Given the description of an element on the screen output the (x, y) to click on. 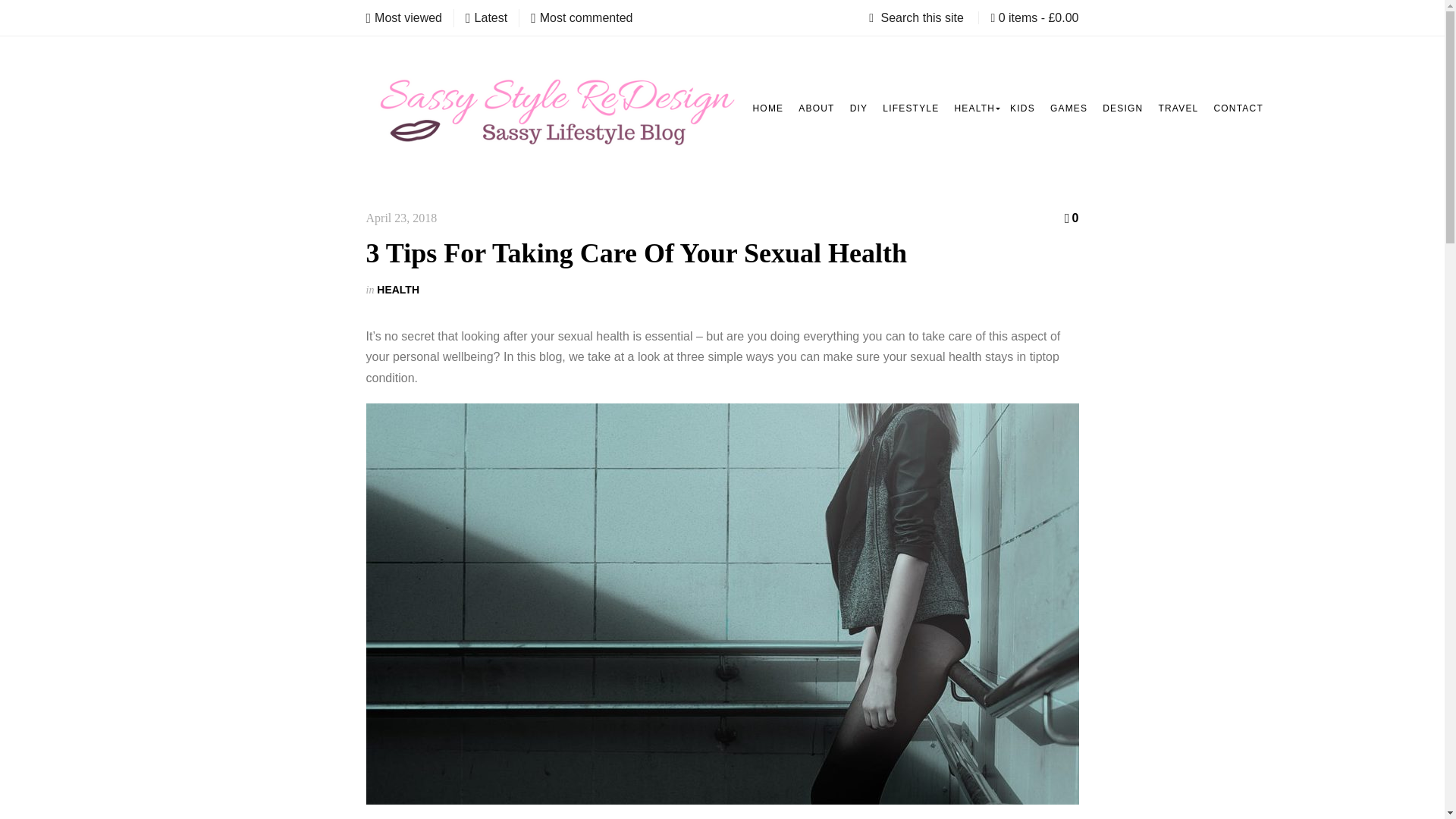
Most viewed (403, 18)
Search this site (917, 17)
Latest (485, 18)
Most commented (581, 18)
